Given the description of an element on the screen output the (x, y) to click on. 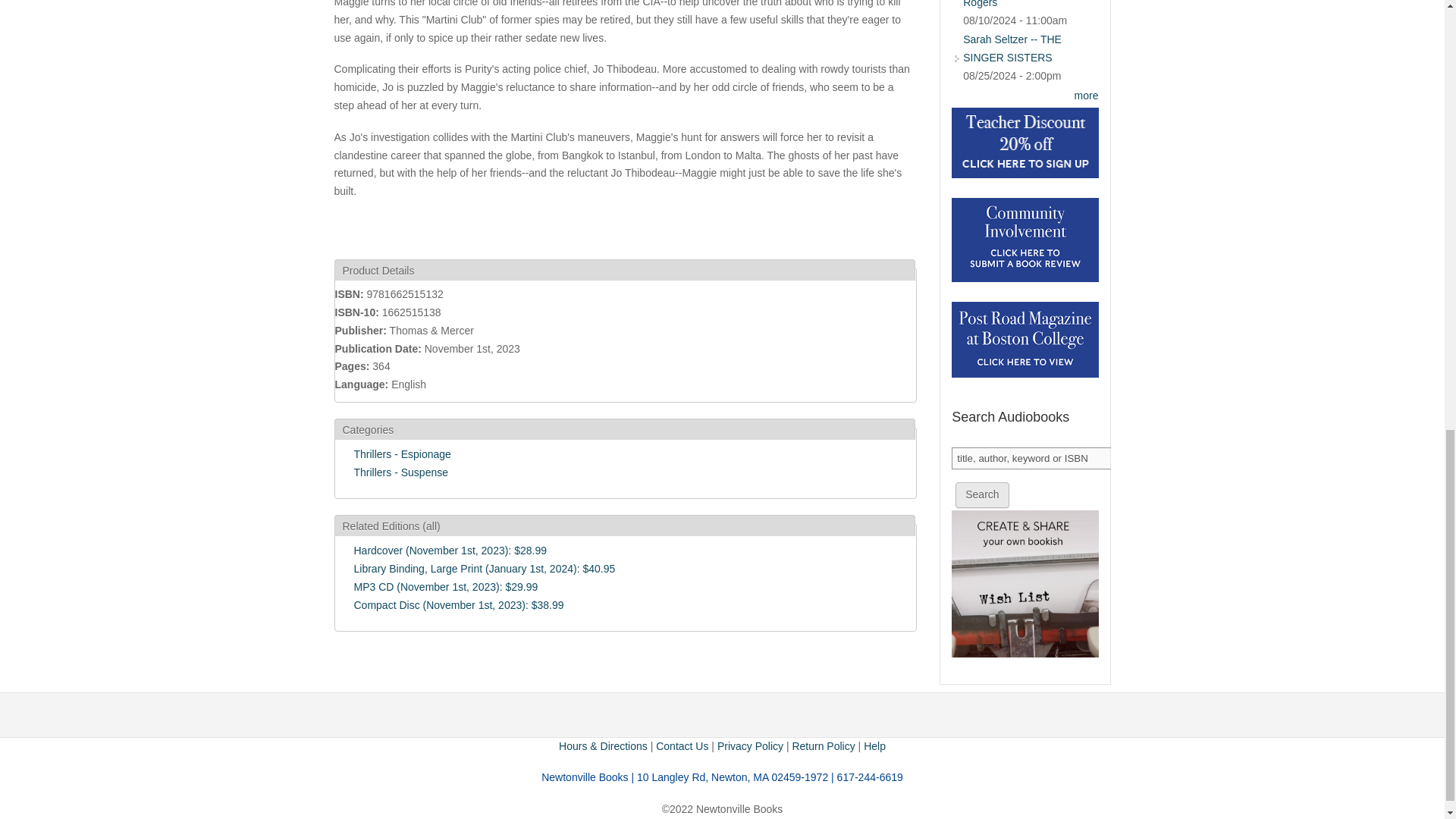
Search (982, 494)
Enter title, author, keyword or ISBN. (1033, 458)
title, author, keyword or ISBN (1033, 458)
